Given the description of an element on the screen output the (x, y) to click on. 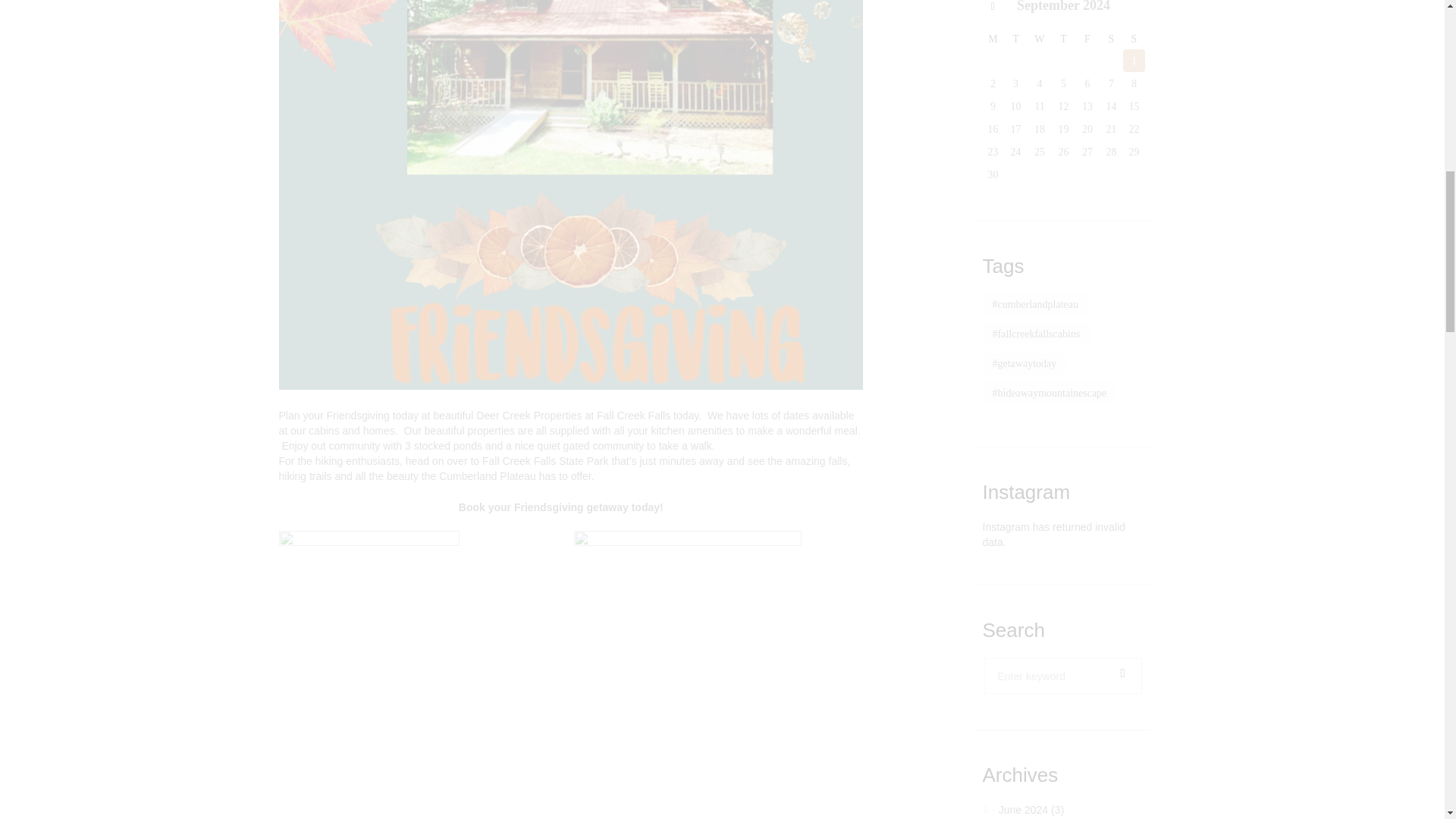
Search for: (1062, 675)
Wednesday (1039, 38)
Saturday (1111, 38)
View posts for June 2024 (993, 8)
Friday (1087, 38)
Thursday (1063, 38)
Monday (993, 38)
Tuesday (1015, 38)
Sunday (1133, 38)
